Given the description of an element on the screen output the (x, y) to click on. 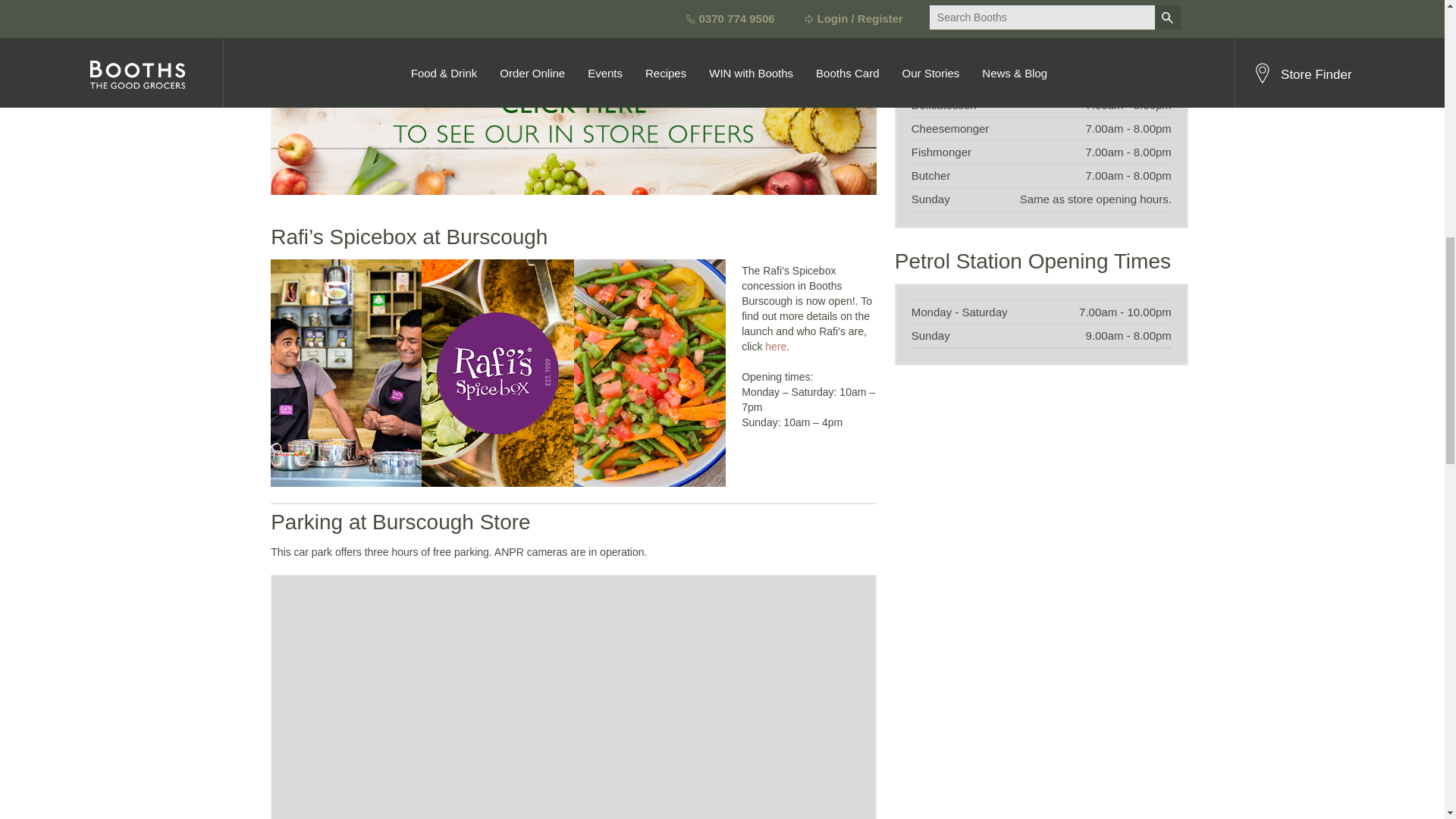
View Our In Store Offers! (573, 118)
